Given the description of an element on the screen output the (x, y) to click on. 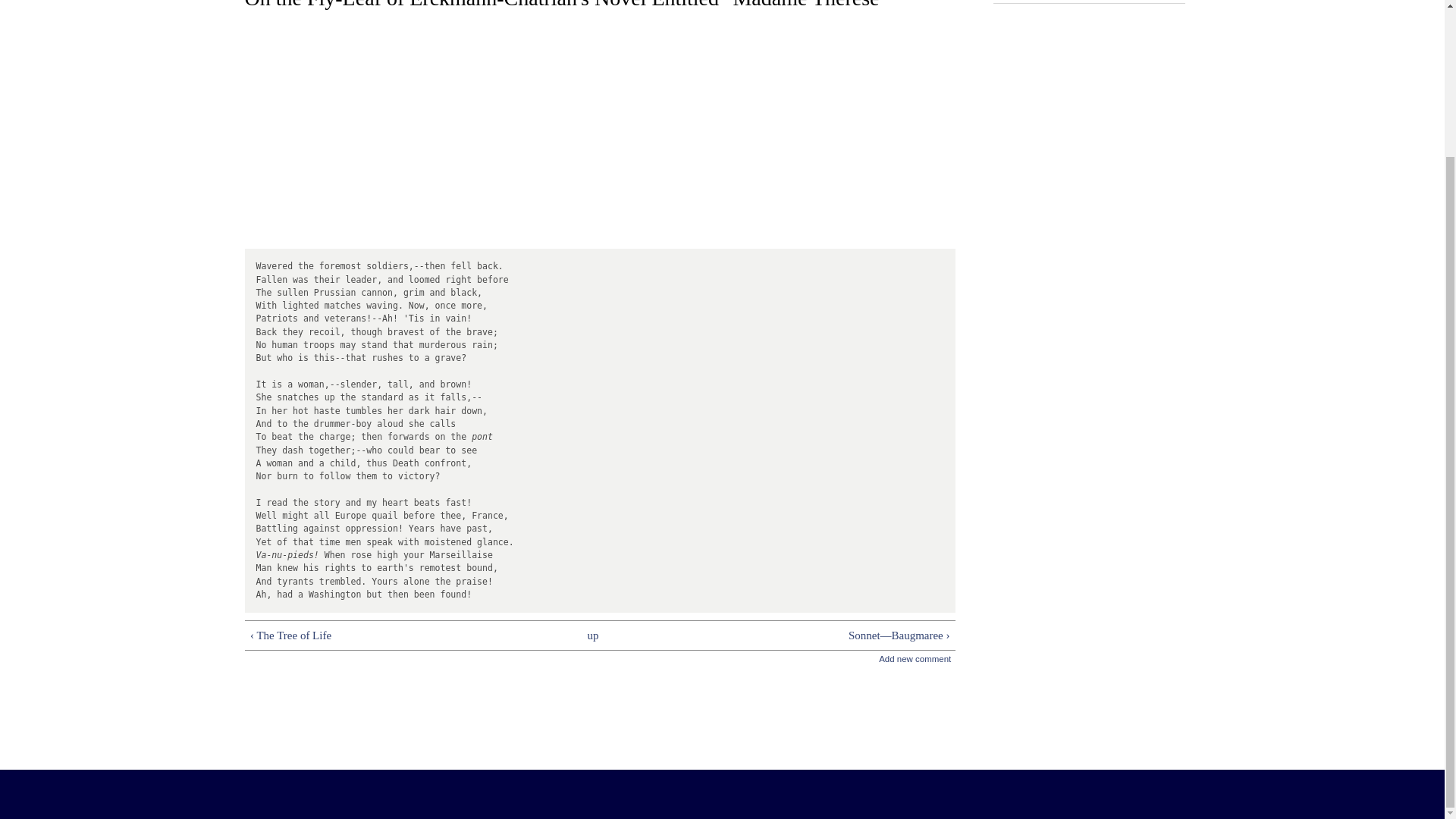
Go to previous page (396, 635)
Go to next page (802, 635)
Advertisement (599, 700)
up (593, 635)
Add new comment (914, 653)
Go to parent page (593, 635)
Share your thoughts and opinions related to this posting. (914, 653)
